Given the description of an element on the screen output the (x, y) to click on. 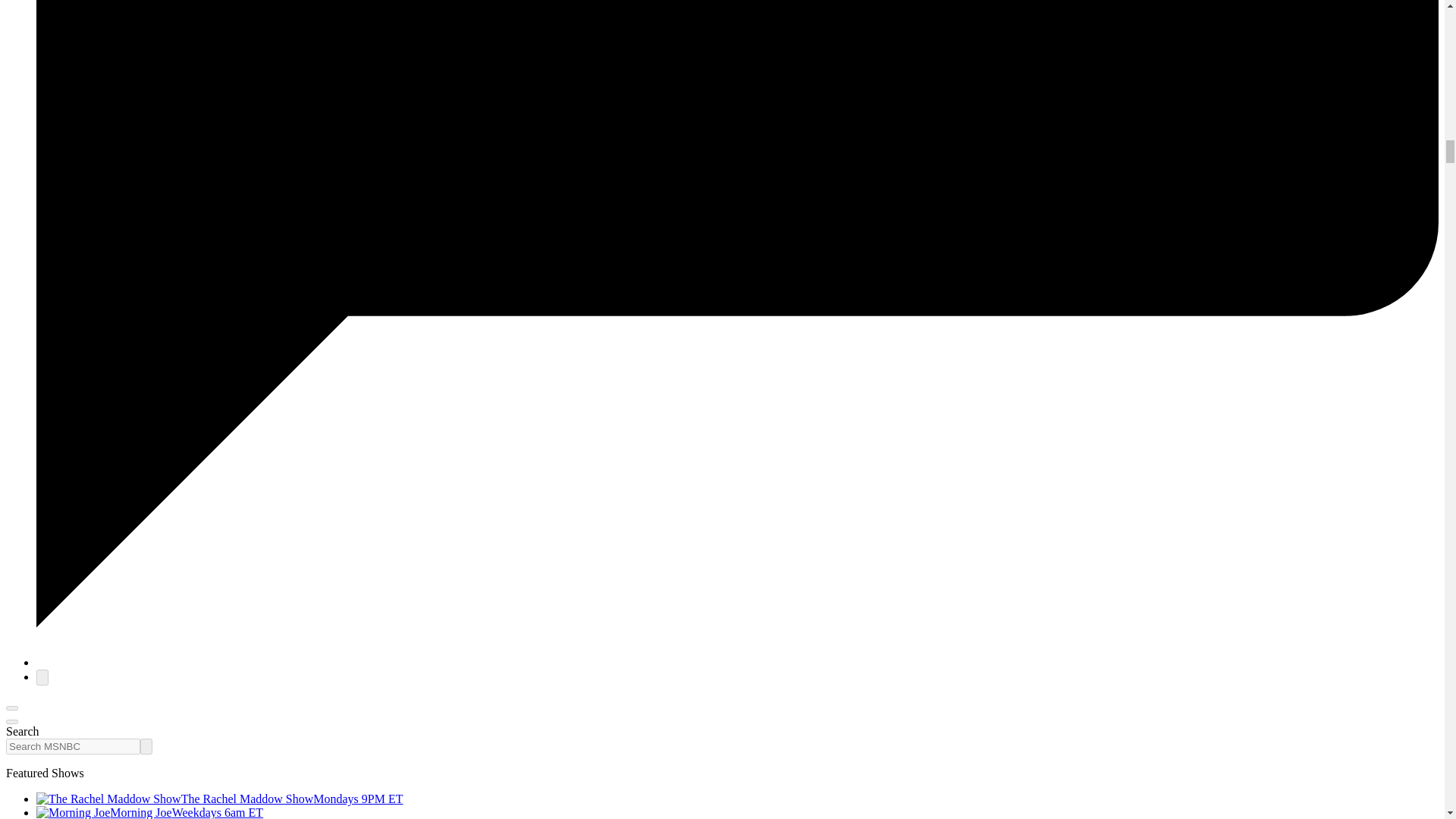
The Rachel Maddow ShowMondays 9PM ET (219, 798)
Morning JoeWeekdays 6am ET (149, 812)
Search (145, 746)
